Given the description of an element on the screen output the (x, y) to click on. 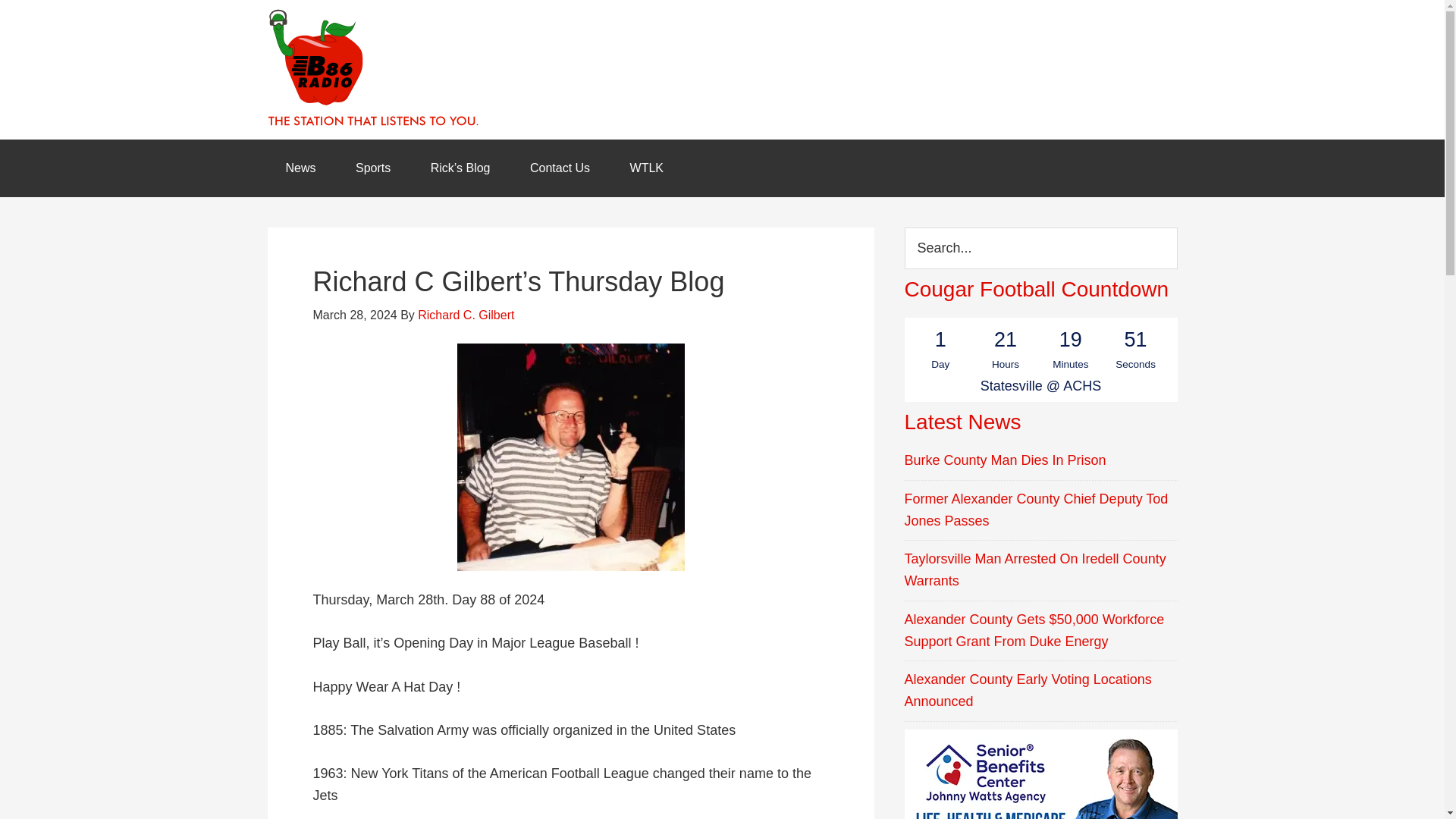
Taylorsville Man Arrested On Iredell County Warrants (1035, 569)
Contact Us (560, 168)
WACB 860AM (721, 69)
Burke County Man Dies In Prison (1004, 459)
Sports (373, 168)
WTLK (646, 168)
News (299, 168)
Former Alexander County Chief Deputy Tod Jones Passes (1035, 509)
